Given the description of an element on the screen output the (x, y) to click on. 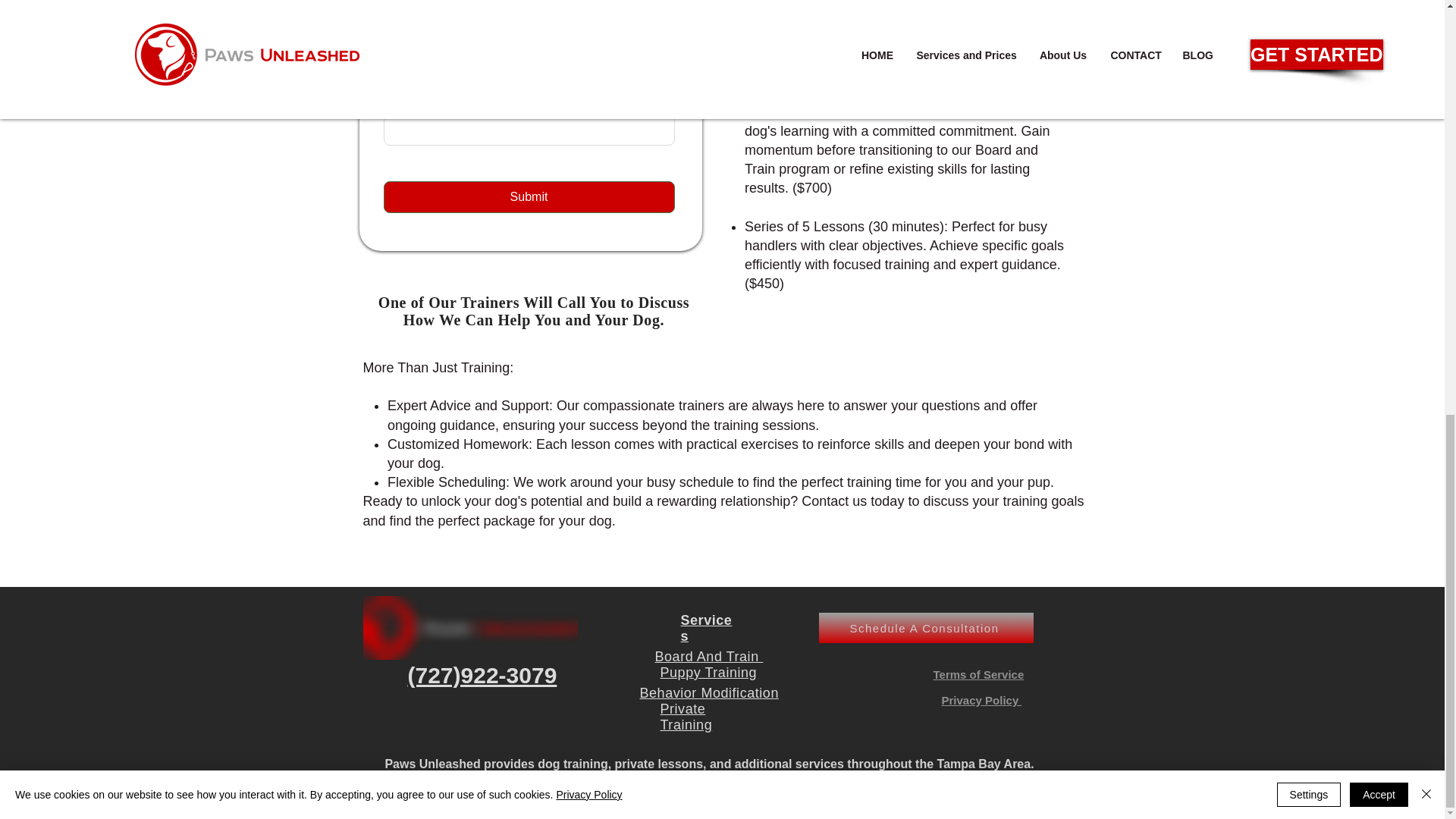
Submit (529, 196)
Puppy Training (708, 672)
Privacy Policy  (982, 699)
Private Training (685, 716)
Services (706, 627)
Terms of Service (978, 674)
Board And Train  (708, 656)
Schedule A Consultation (925, 627)
Behavior Modification (709, 693)
